Given the description of an element on the screen output the (x, y) to click on. 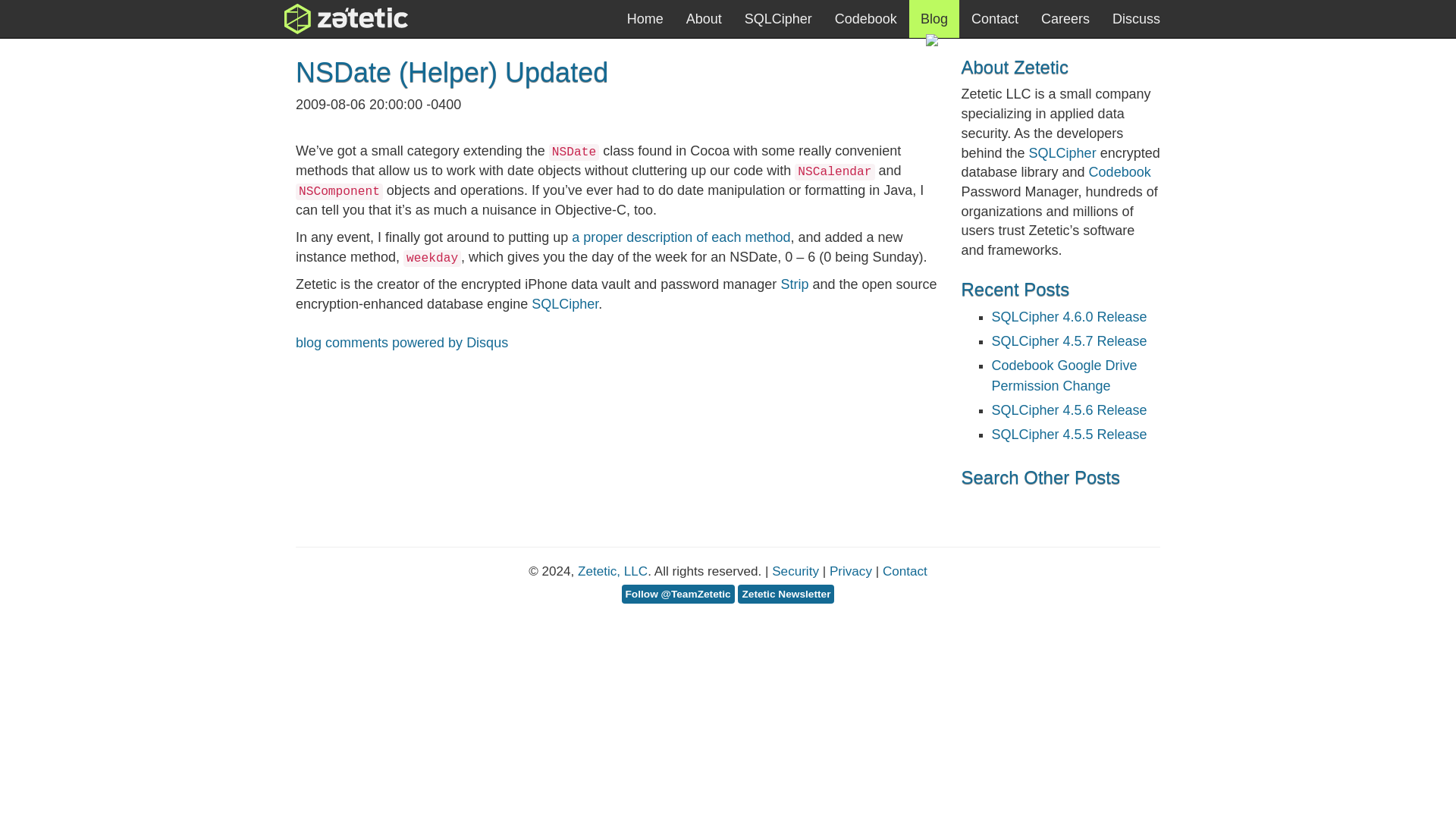
Privacy (850, 571)
Contact (904, 571)
Codebook (866, 18)
SQLCipher 4.5.5 Release (1069, 434)
SQLCipher 4.6.0 Release (1069, 316)
SQLCipher (778, 18)
Zetetic LLC (359, 18)
blog comments powered by Disqus (401, 342)
Security (794, 571)
Zetetic Newsletter (786, 594)
About (704, 18)
SQLCipher (1062, 152)
SQLCipher (564, 304)
a proper description of each method (681, 237)
Discuss (1136, 18)
